Given the description of an element on the screen output the (x, y) to click on. 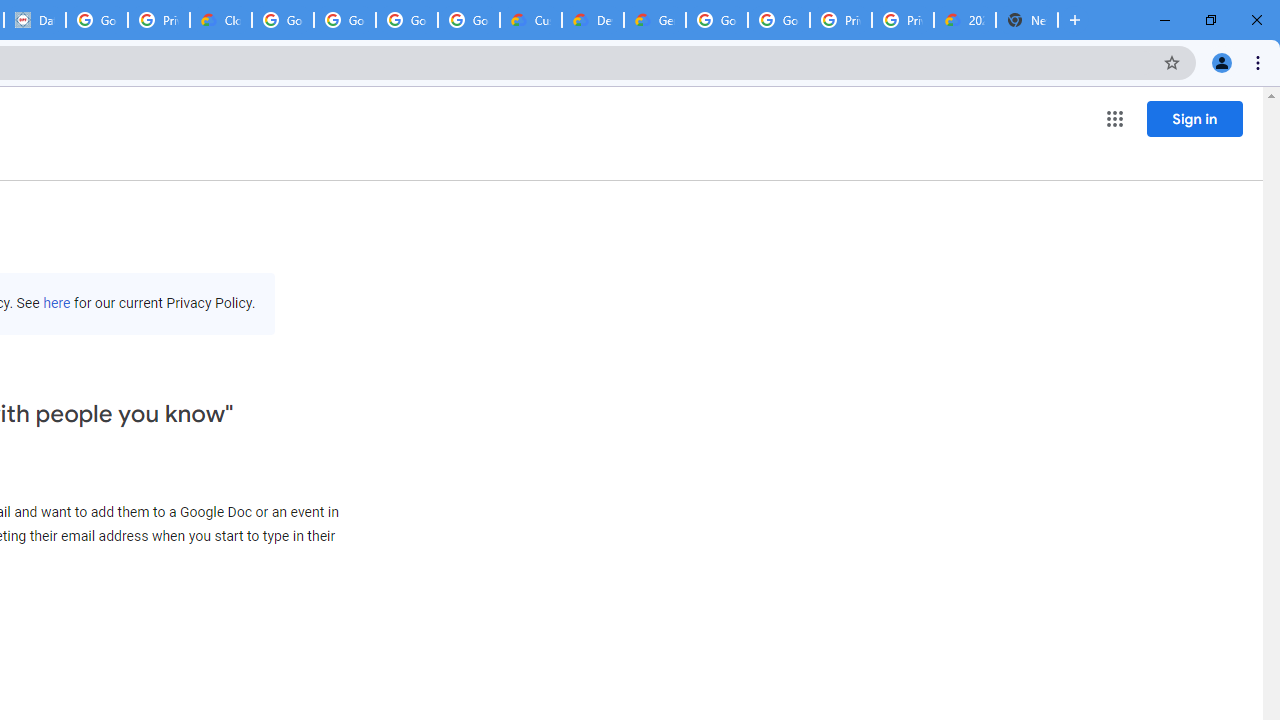
Google Workspace - Specific Terms (406, 20)
Google Cloud Platform (716, 20)
Gemini for Business and Developers | Google Cloud (654, 20)
